Given the description of an element on the screen output the (x, y) to click on. 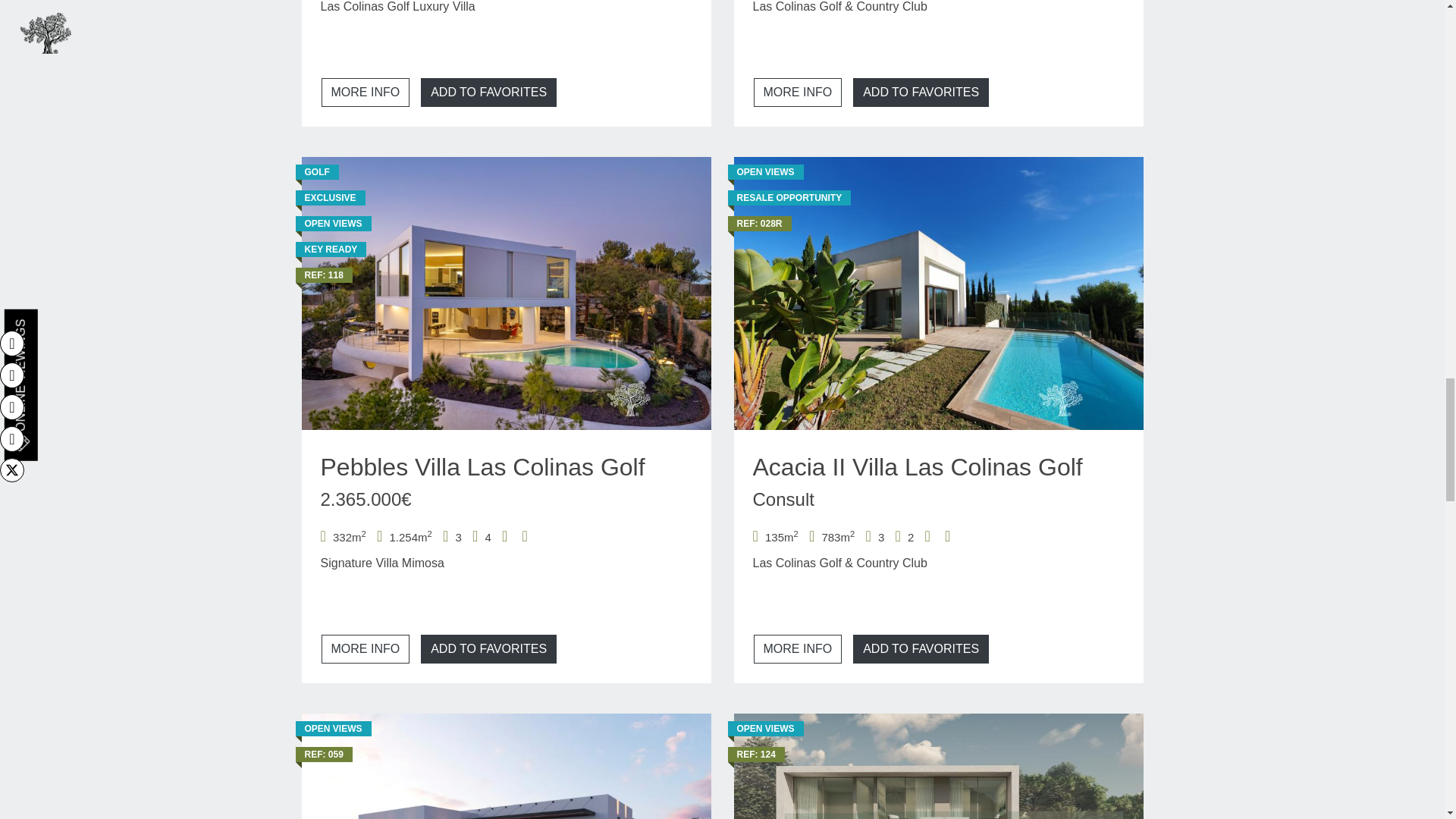
Add to Favorites (920, 648)
Add to Favorites (488, 648)
Add to Favorites (488, 92)
Add to Favorites (920, 92)
Villas - Resales - Las Colinas Golf - Las Colinas (937, 293)
Villas - New Build - Las Colinas Golf - Las Colinas (506, 293)
